Given the description of an element on the screen output the (x, y) to click on. 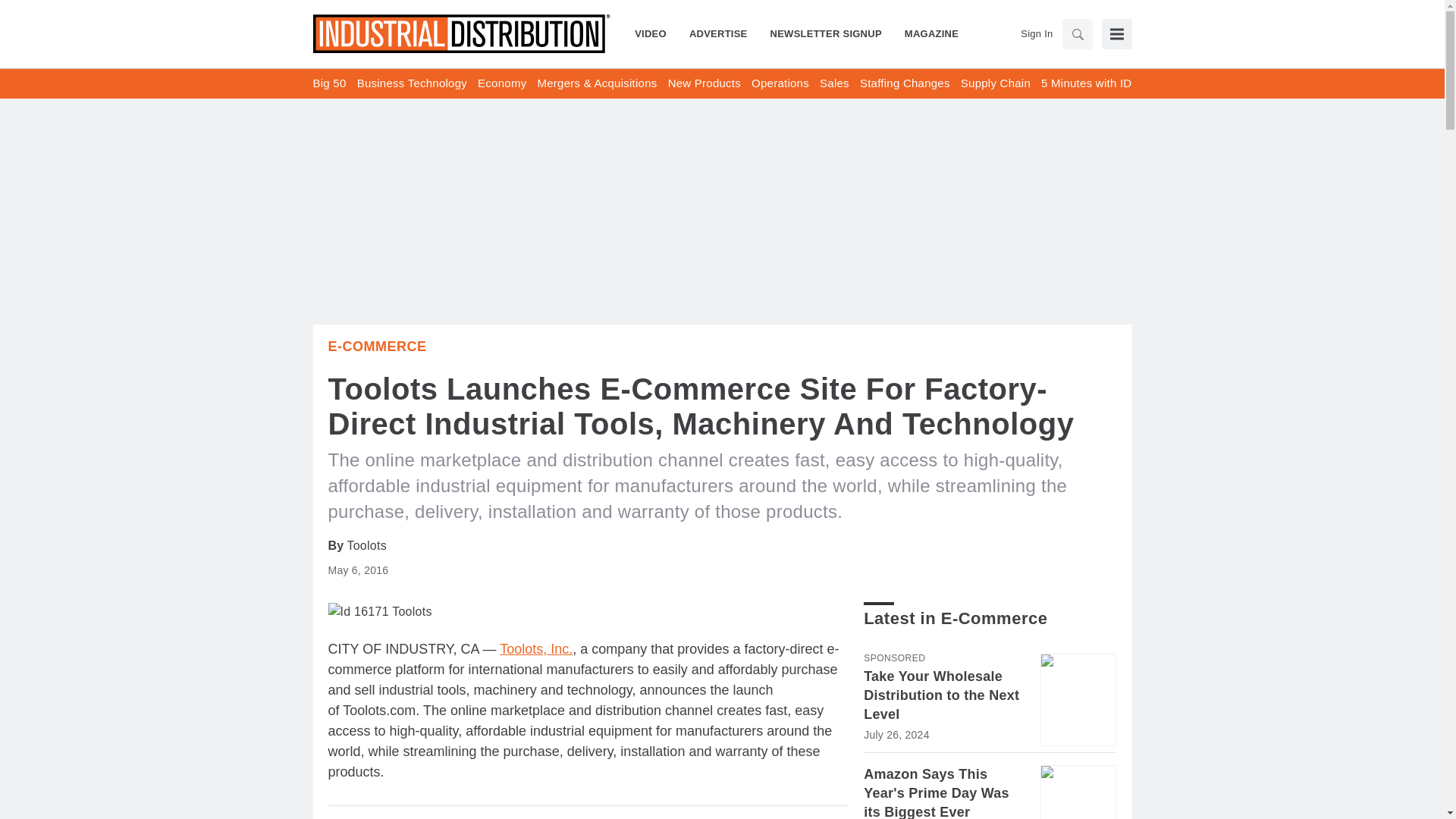
ADVERTISE (718, 33)
Sponsored (893, 657)
Big 50 (329, 83)
Staffing Changes (905, 83)
Sales (833, 83)
Supply Chain (995, 83)
Economy (501, 83)
5 Minutes with ID (1086, 83)
Business Technology (411, 83)
NEWSLETTER SIGNUP (825, 33)
MAGAZINE (925, 33)
E-Commerce (376, 346)
Sign In (1036, 33)
Operations (780, 83)
New Products (704, 83)
